Given the description of an element on the screen output the (x, y) to click on. 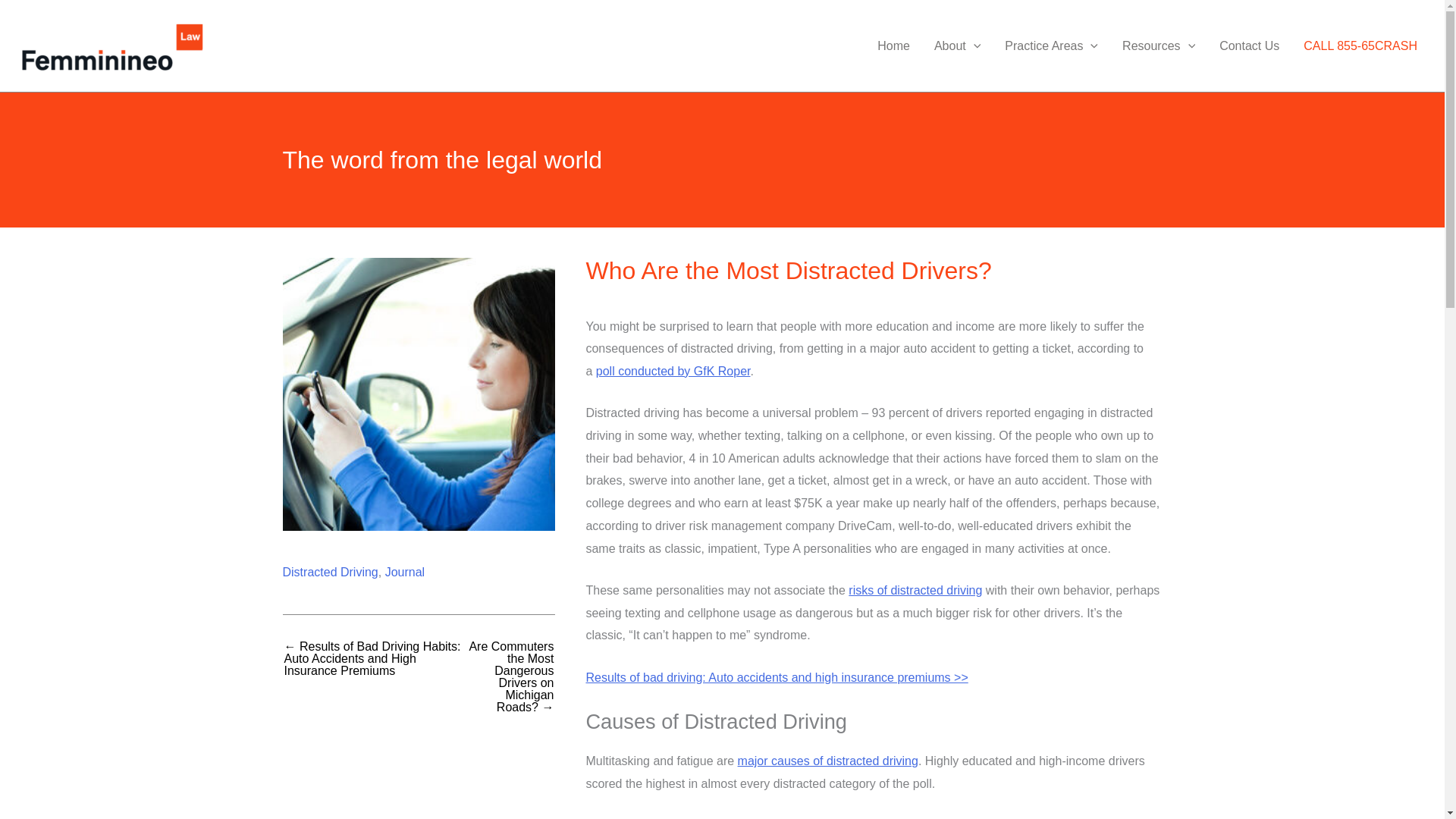
Practice Areas (1050, 45)
About (956, 45)
Distracted-Driver (418, 393)
Resources (1158, 45)
Home (892, 45)
CALL 855-65CRASH (1360, 45)
Contact Us (1249, 45)
